Given the description of an element on the screen output the (x, y) to click on. 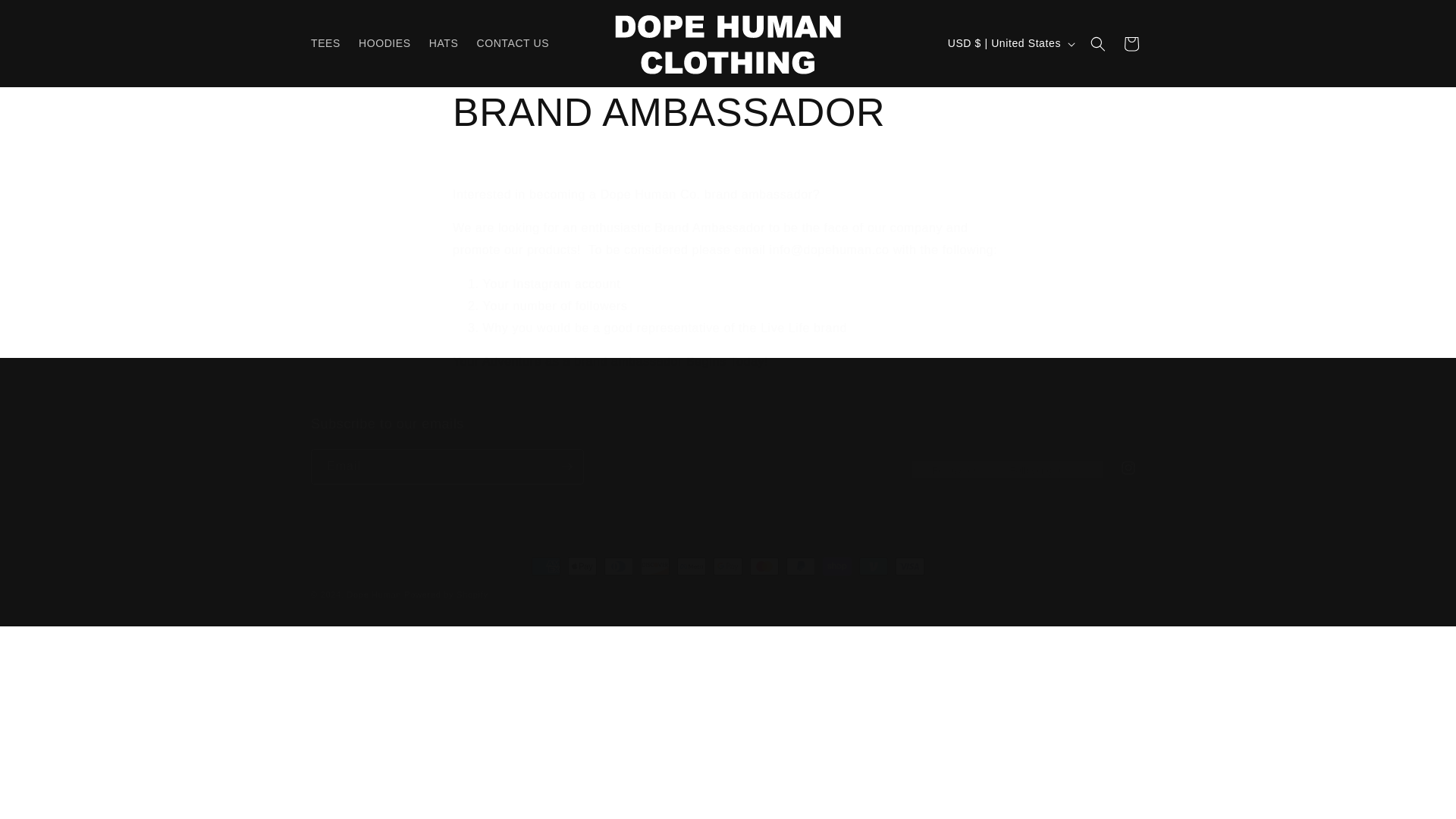
BRAND AMBASSADOR (727, 112)
TEES (325, 42)
Powered by Shopify (445, 593)
CONTACT US (727, 449)
HOODIES (512, 42)
Skip to content (384, 42)
Instagram (45, 17)
HATS (1128, 467)
Dope Human (443, 42)
